Given the description of an element on the screen output the (x, y) to click on. 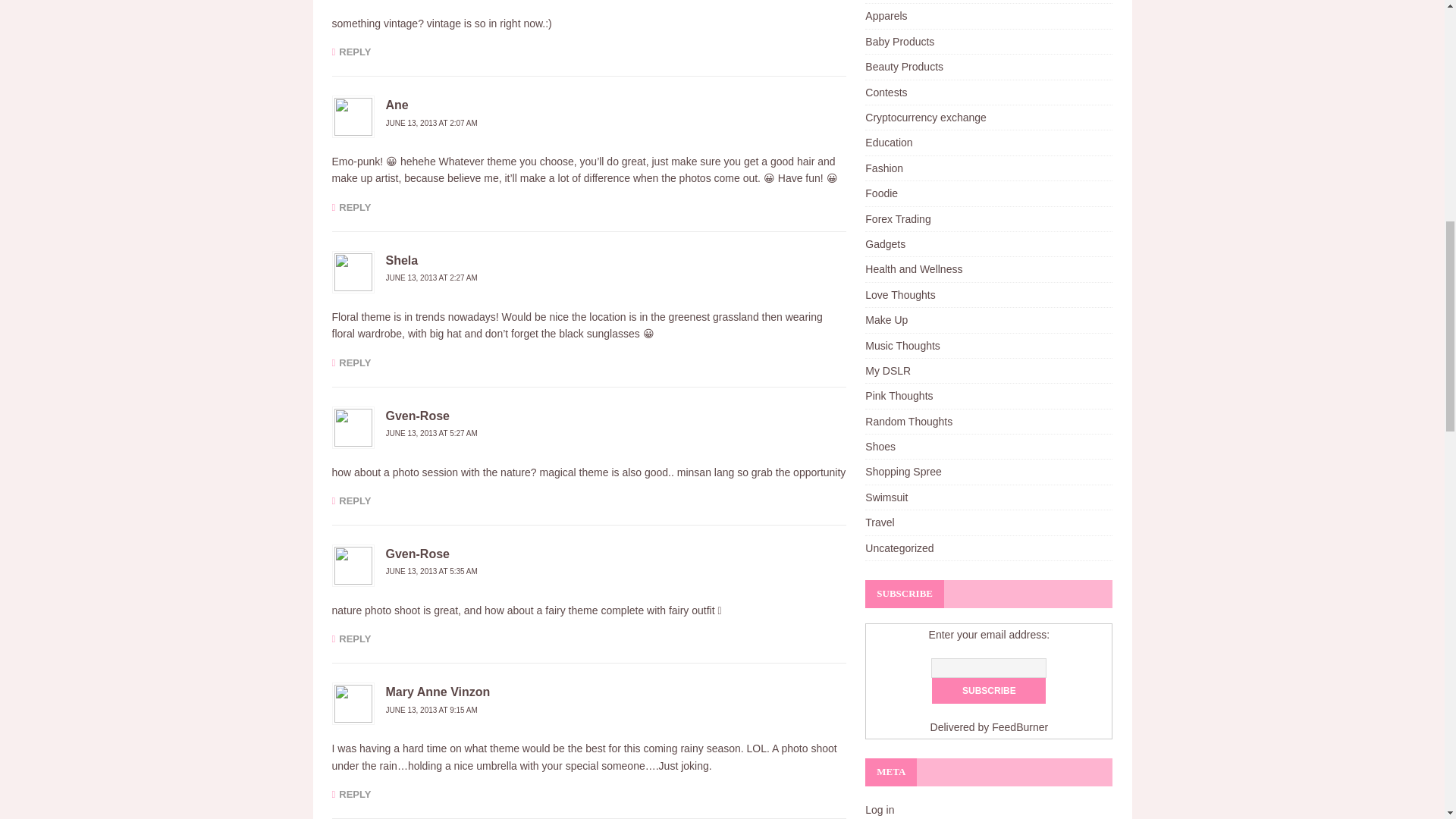
REPLY (351, 794)
JUNE 13, 2013 AT 5:27 AM (431, 433)
JUNE 13, 2013 AT 2:27 AM (431, 277)
JUNE 13, 2013 AT 9:15 AM (431, 709)
Gven-Rose (416, 415)
Gven-Rose (416, 553)
JUNE 13, 2013 AT 2:07 AM (431, 122)
JUNE 13, 2013 AT 5:35 AM (431, 571)
REPLY (351, 206)
Shela (401, 259)
Subscribe (988, 690)
REPLY (351, 361)
REPLY (351, 500)
REPLY (351, 638)
Ane (396, 104)
